Given the description of an element on the screen output the (x, y) to click on. 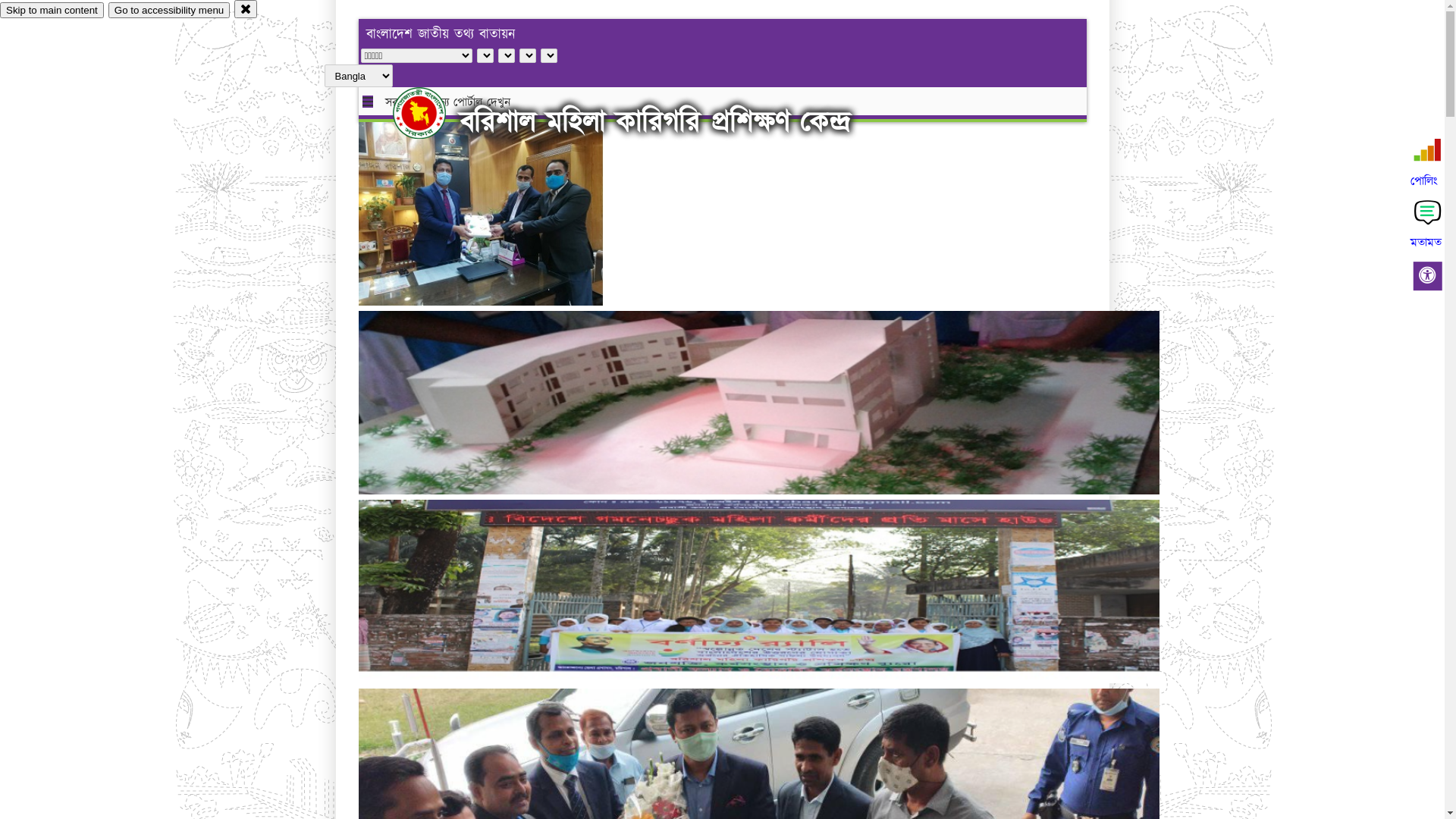

                
             Element type: hover (431, 112)
Go to accessibility menu Element type: text (168, 10)
Skip to main content Element type: text (51, 10)
close Element type: hover (245, 9)
